Given the description of an element on the screen output the (x, y) to click on. 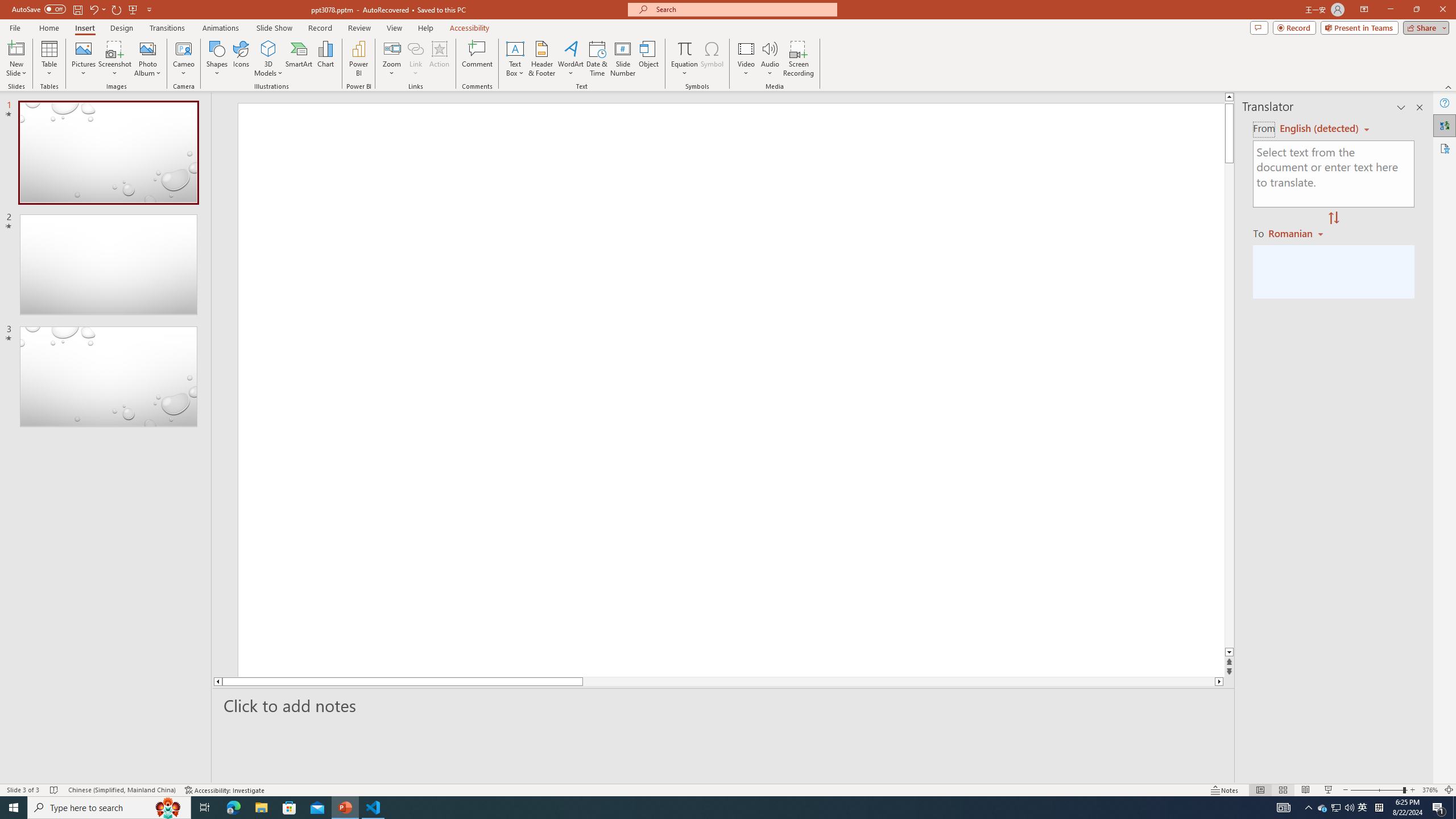
Table (49, 58)
Action (439, 58)
Video (745, 58)
Slide Number (622, 58)
